Given the description of an element on the screen output the (x, y) to click on. 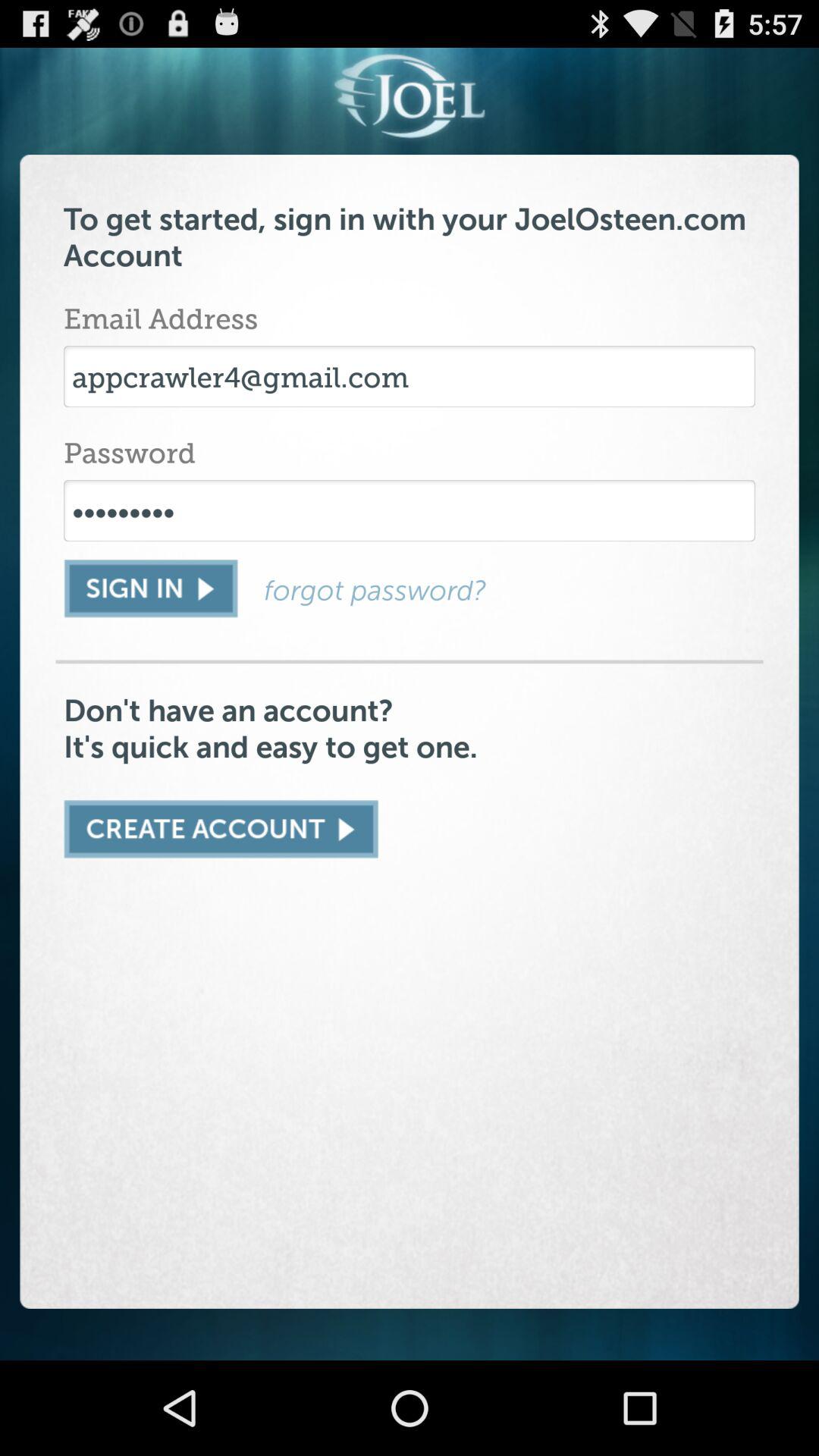
turn off the icon next to forgot password? icon (150, 588)
